Given the description of an element on the screen output the (x, y) to click on. 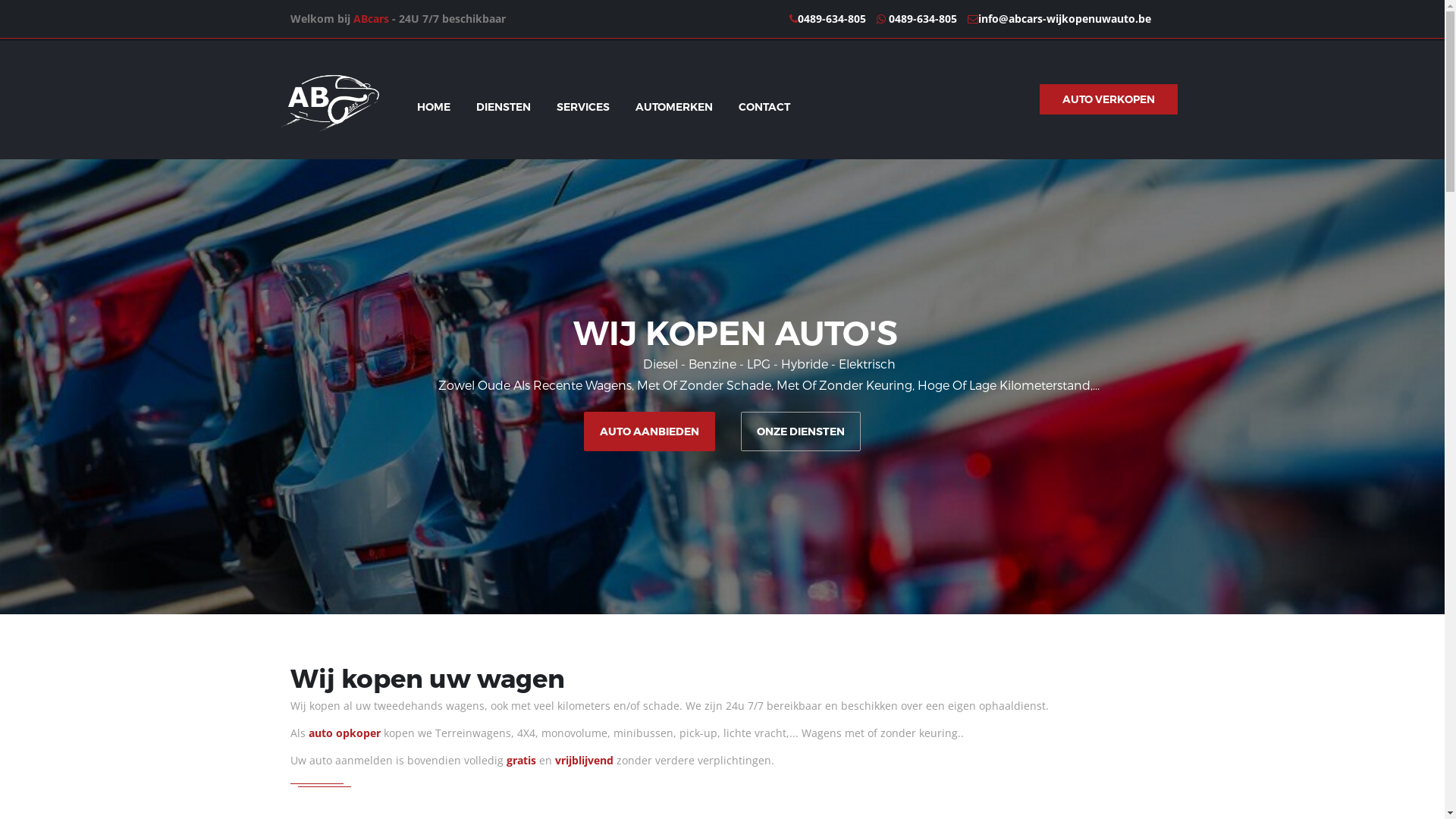
ONZE DIENSTEN Element type: text (800, 431)
auto opkoper Element type: text (343, 732)
AUTOMERKEN Element type: text (672, 106)
SERVICES Element type: text (581, 106)
ABcars Element type: text (371, 18)
DIENSTEN Element type: text (502, 106)
AUTO VERKOPEN Element type: text (1107, 99)
info@abcars-wijkopenuwauto.be Element type: text (1064, 18)
AUTO AANBIEDEN Element type: text (649, 431)
0489-634-805 Element type: text (831, 18)
CONTACT Element type: text (763, 106)
0489-634-805 Element type: text (916, 18)
HOME Element type: text (432, 106)
